Given the description of an element on the screen output the (x, y) to click on. 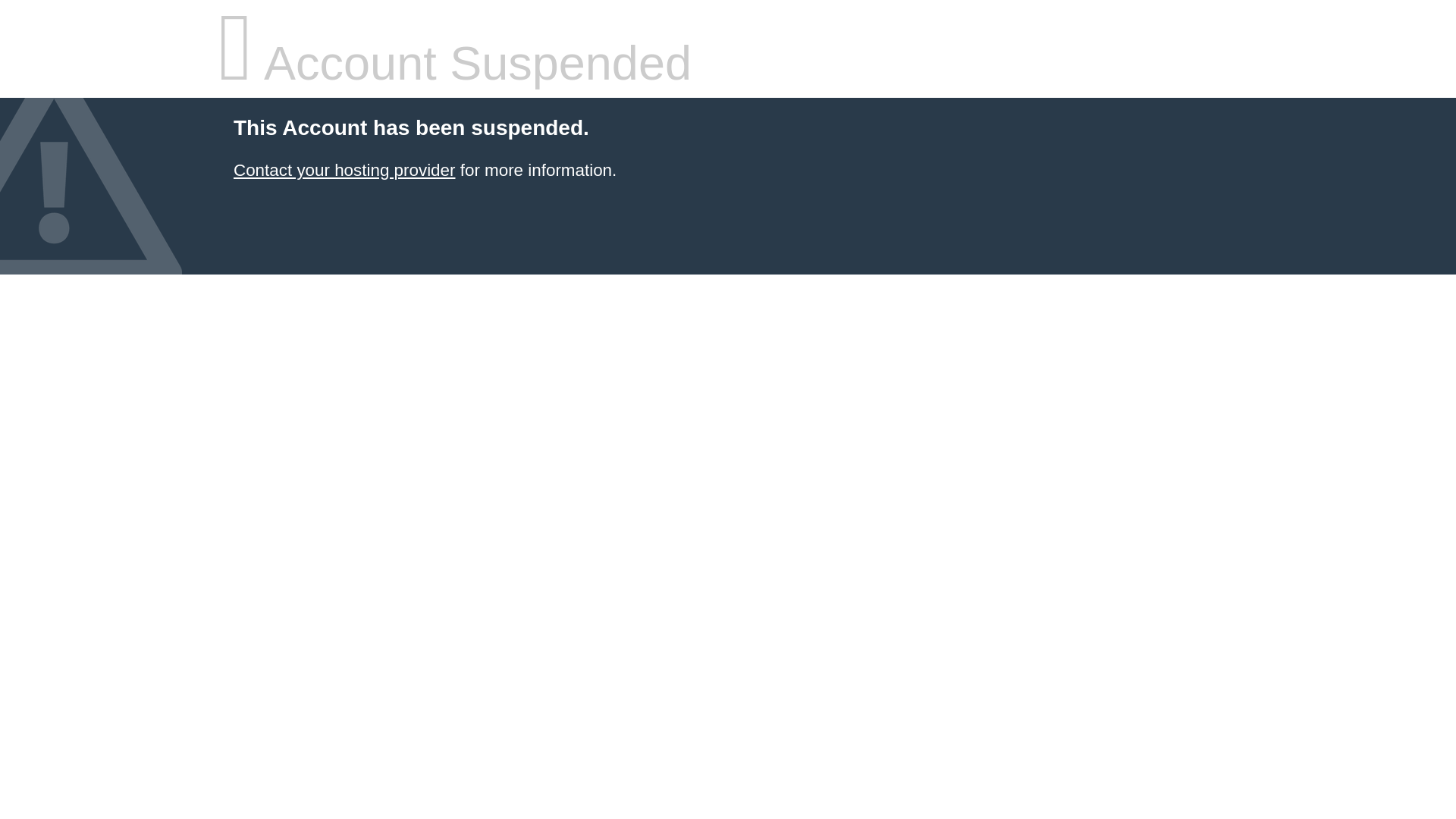
Contact your hosting provider (343, 169)
